Given the description of an element on the screen output the (x, y) to click on. 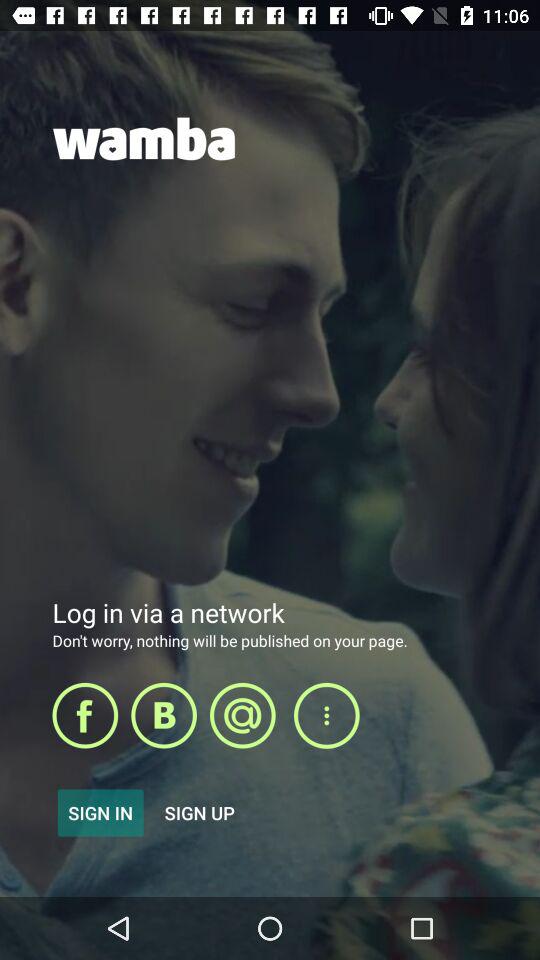
open selected item (163, 715)
